Given the description of an element on the screen output the (x, y) to click on. 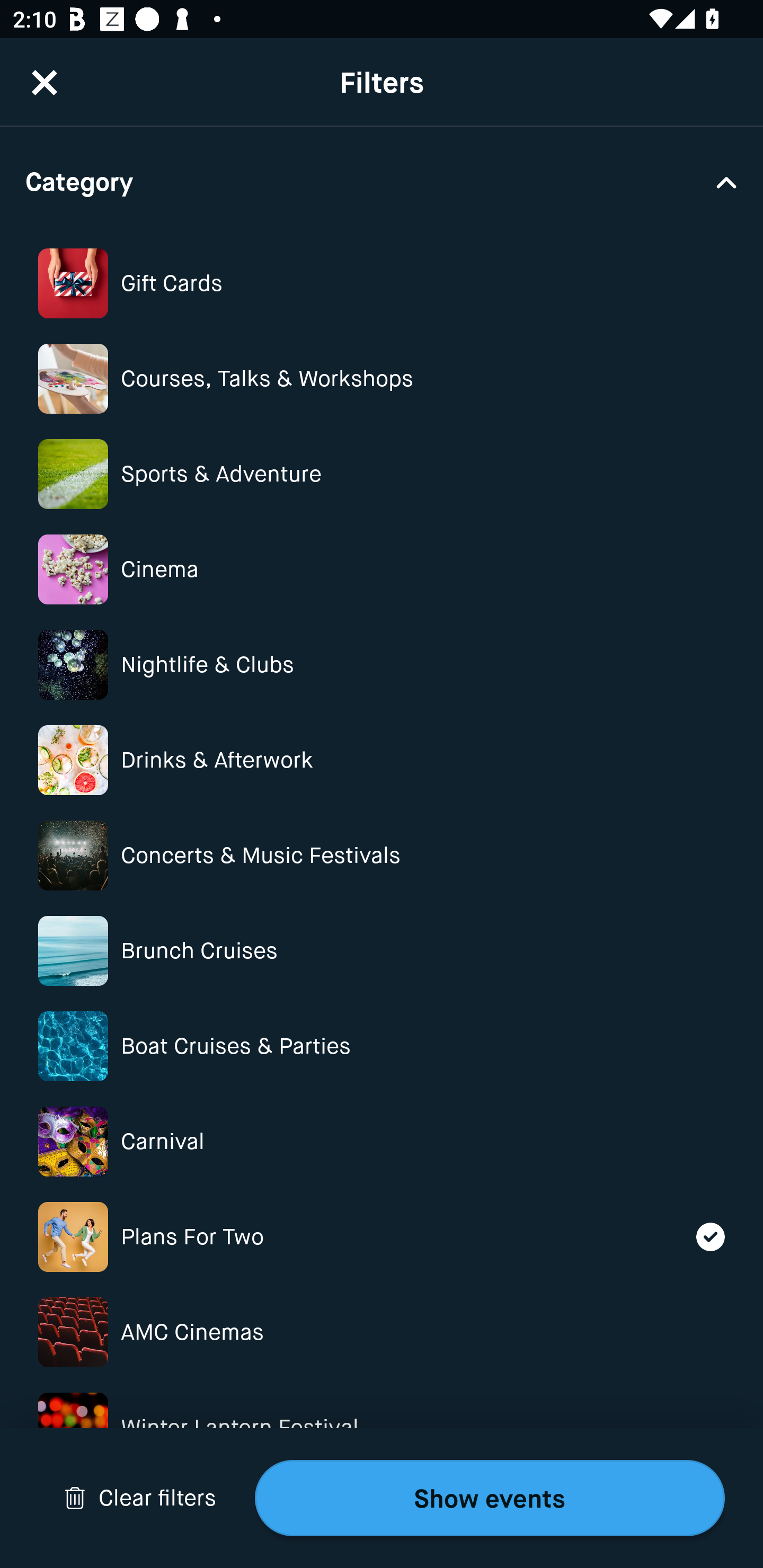
Category Drop Down Arrow (381, 181)
Category Image Gift Cards (381, 282)
Category Image Courses, Talks & Workshops (381, 378)
Category Image Sports & Adventure (381, 473)
Category Image Cinema (381, 569)
Category Image Nightlife & Clubs (381, 664)
Category Image Drinks & Afterwork (381, 759)
Category Image Concerts & Music Festivals (381, 854)
Category Image Brunch Cruises (381, 950)
Category Image Boat Cruises & Parties (381, 1046)
Category Image Carnival (381, 1141)
Category Image Plans For Two Selected Icon (381, 1236)
Category Image AMC Cinemas (381, 1331)
Drop Down Arrow Clear filters (139, 1497)
Show events (489, 1497)
